Given the description of an element on the screen output the (x, y) to click on. 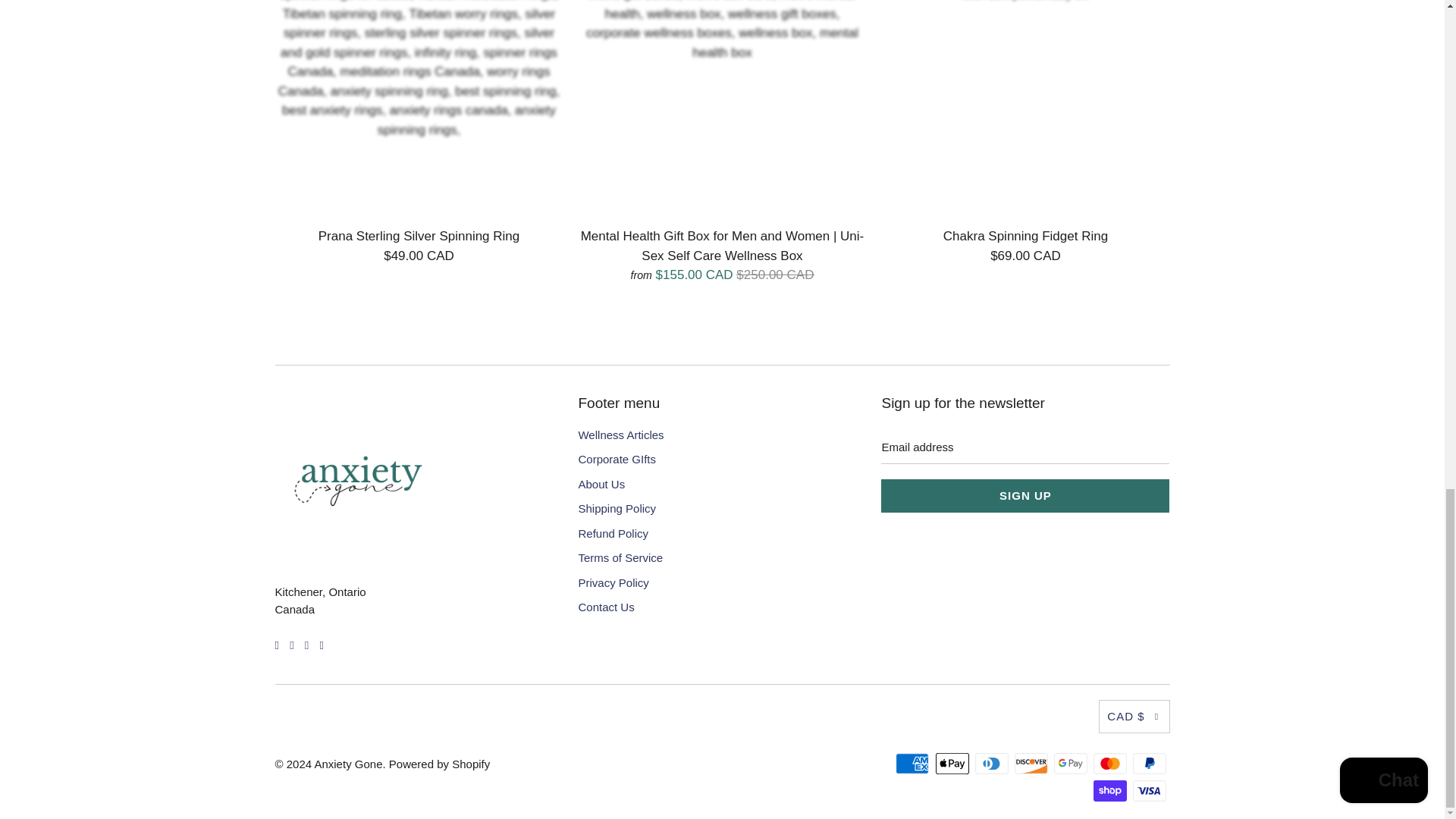
Discover (1032, 763)
PayPal (1150, 763)
Google Pay (1072, 763)
Visa (1150, 790)
Mastercard (1111, 763)
Shop Pay (1111, 790)
Diners Club (993, 763)
Sign Up (1024, 495)
Apple Pay (954, 763)
American Express (913, 763)
